Given the description of an element on the screen output the (x, y) to click on. 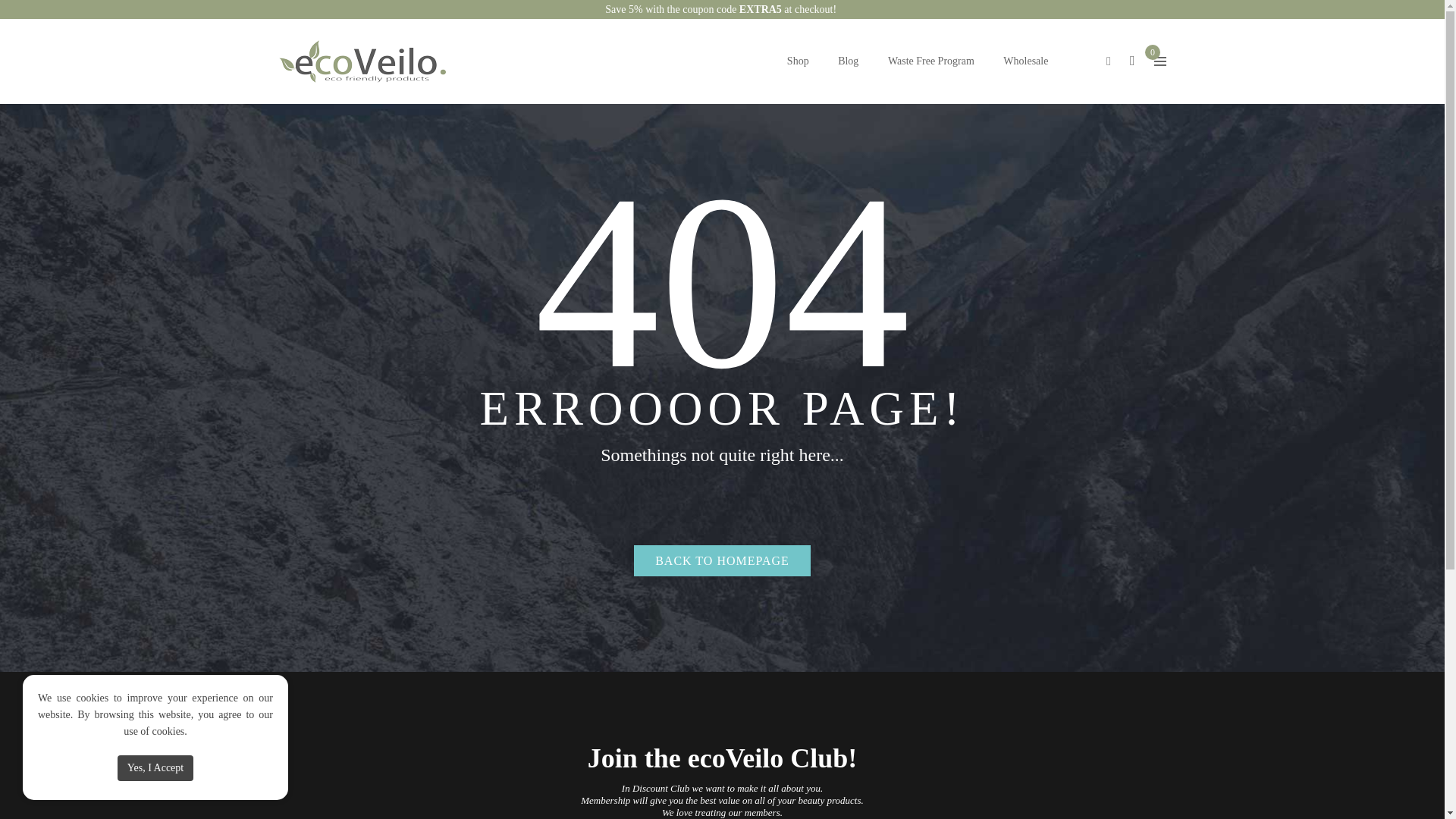
Blog (848, 61)
BACK TO HOMEPAGE (721, 560)
Waste Free Program (931, 61)
Wholesale (1025, 61)
Yes, I Accept (155, 768)
Shop (797, 61)
